Given the description of an element on the screen output the (x, y) to click on. 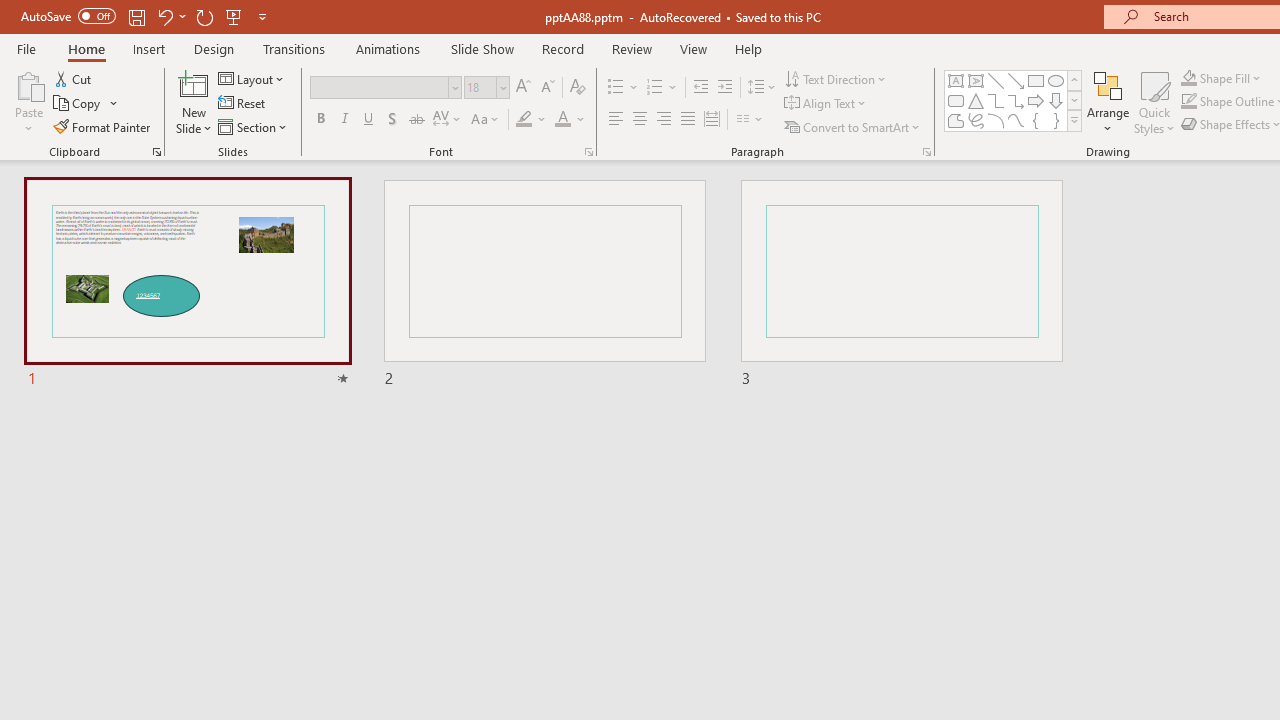
Rectangle: Rounded Corners (955, 100)
Isosceles Triangle (975, 100)
Connector: Elbow Arrow (1016, 100)
Shape Fill Aqua, Accent 2 (1188, 78)
Curve (1016, 120)
Arrow: Down (1055, 100)
Rectangle (1035, 80)
